Given the description of an element on the screen output the (x, y) to click on. 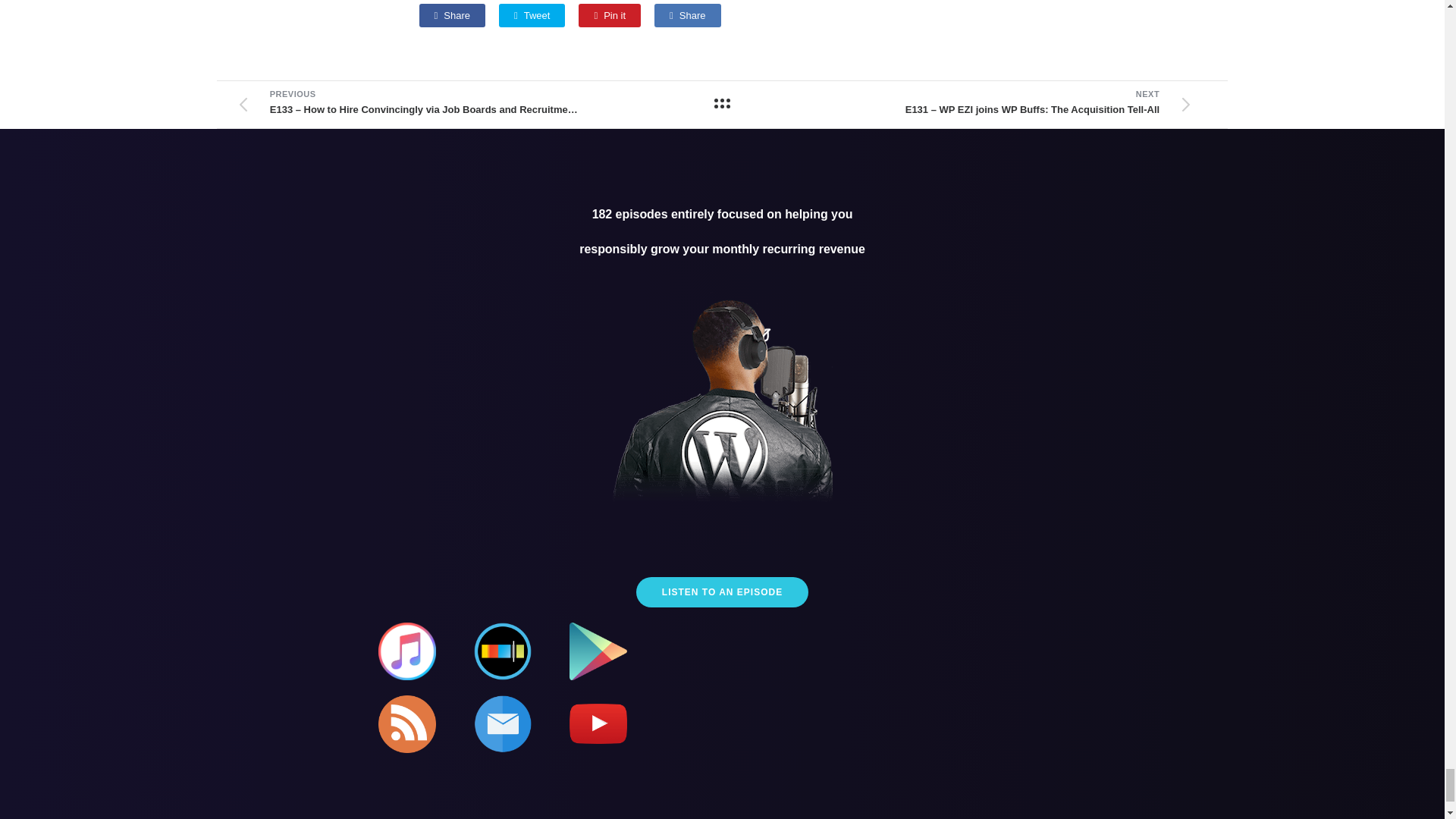
Share (451, 14)
RSS Feed (406, 723)
Stitcher (502, 650)
Share (686, 14)
youtubelogo (597, 723)
icon-email (502, 723)
JoeFacingAway (722, 402)
LISTEN TO AN EPISODE (722, 591)
Pin it (609, 14)
Tweet (531, 14)
